Given the description of an element on the screen output the (x, y) to click on. 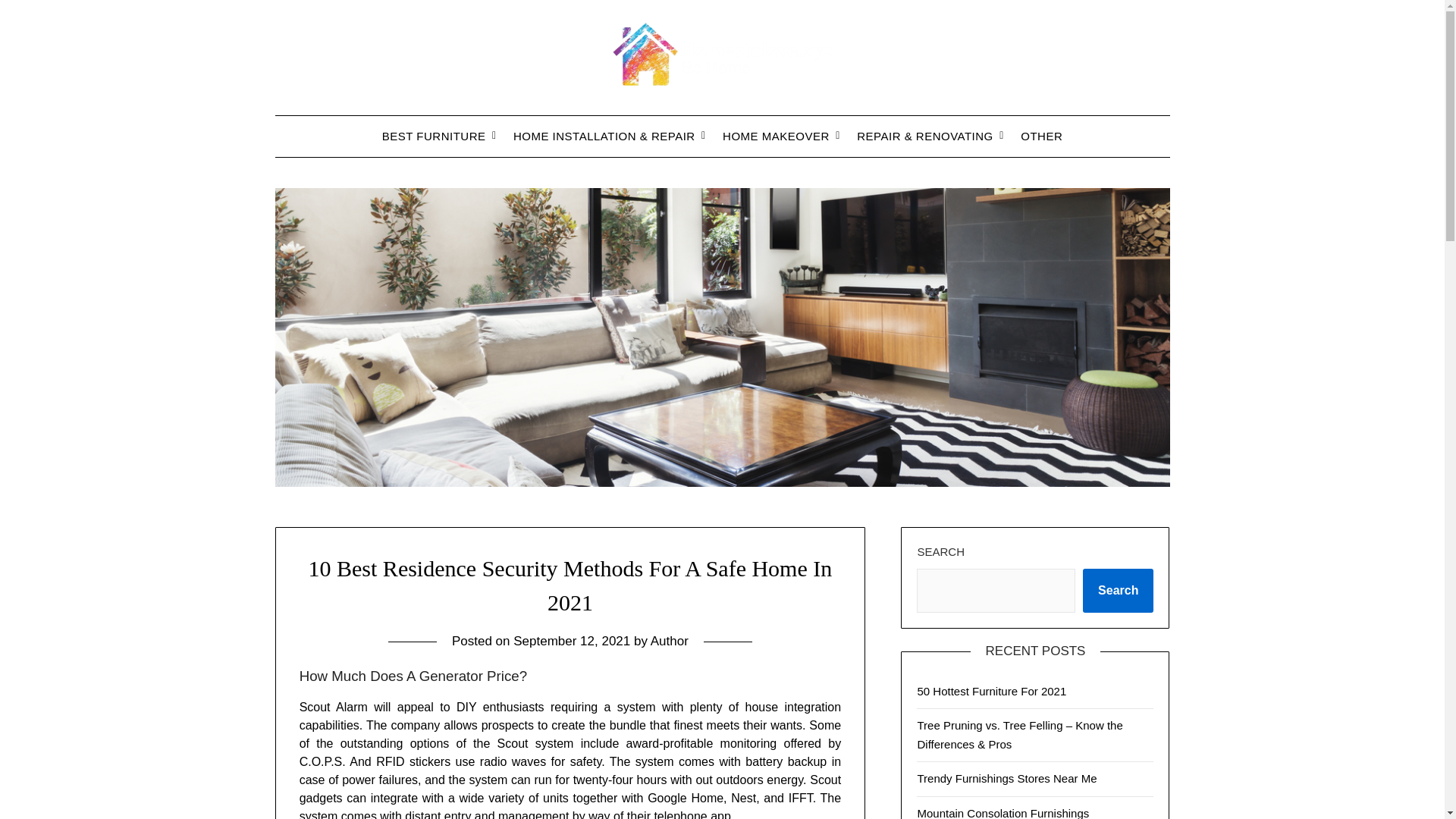
HOME MAKEOVER (775, 136)
BEST FURNITURE (433, 136)
Author (669, 640)
September 12, 2021 (571, 640)
50 Hottest Furniture For 2021 (991, 690)
Search (1118, 590)
Mountain Consolation Furnishings (1003, 812)
Trendy Furnishings Stores Near Me (1006, 778)
OTHER (1041, 136)
